Given the description of an element on the screen output the (x, y) to click on. 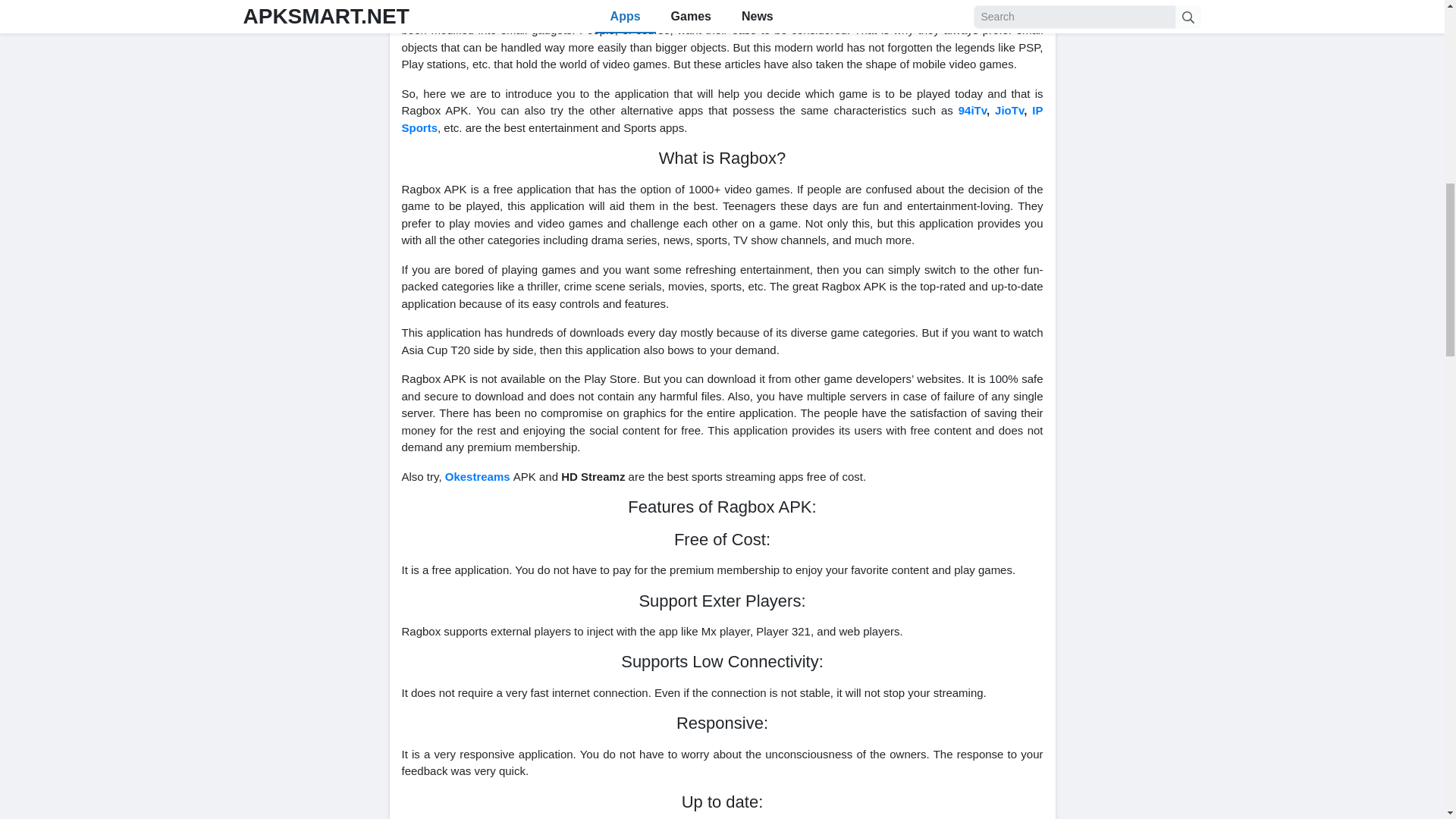
Okestreams (478, 476)
JioTv (1008, 110)
94iTv (972, 110)
IP Sports (722, 119)
